Given the description of an element on the screen output the (x, y) to click on. 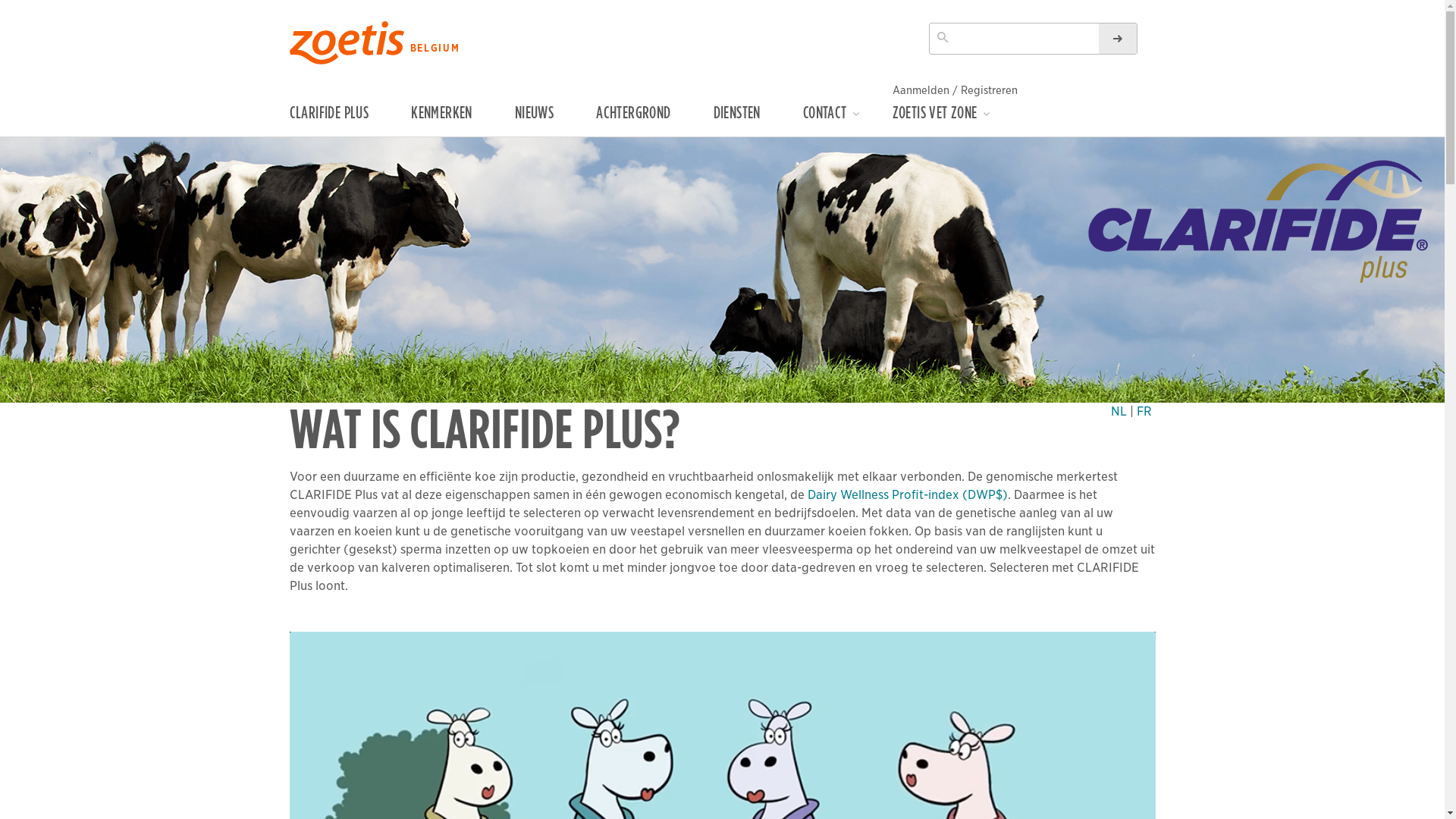
CLARIFIDE PLUS Element type: text (347, 119)
CONTACT Element type: text (850, 119)
ACHTERGROND Element type: text (651, 119)
DIENSTEN Element type: text (755, 119)
KENMERKEN Element type: text (459, 119)
FR Element type: text (1143, 411)
NL Element type: text (1118, 411)
CONTACT Element type: text (844, 118)
ZOETIS VET ZONE Element type: text (954, 118)
Aanmelden / Registreren Element type: text (954, 90)
BELGIUM Element type: text (437, 48)
Dairy Wellness Profit-index (DWP$) Element type: text (906, 494)
NIEUWS Element type: text (551, 119)
